Given the description of an element on the screen output the (x, y) to click on. 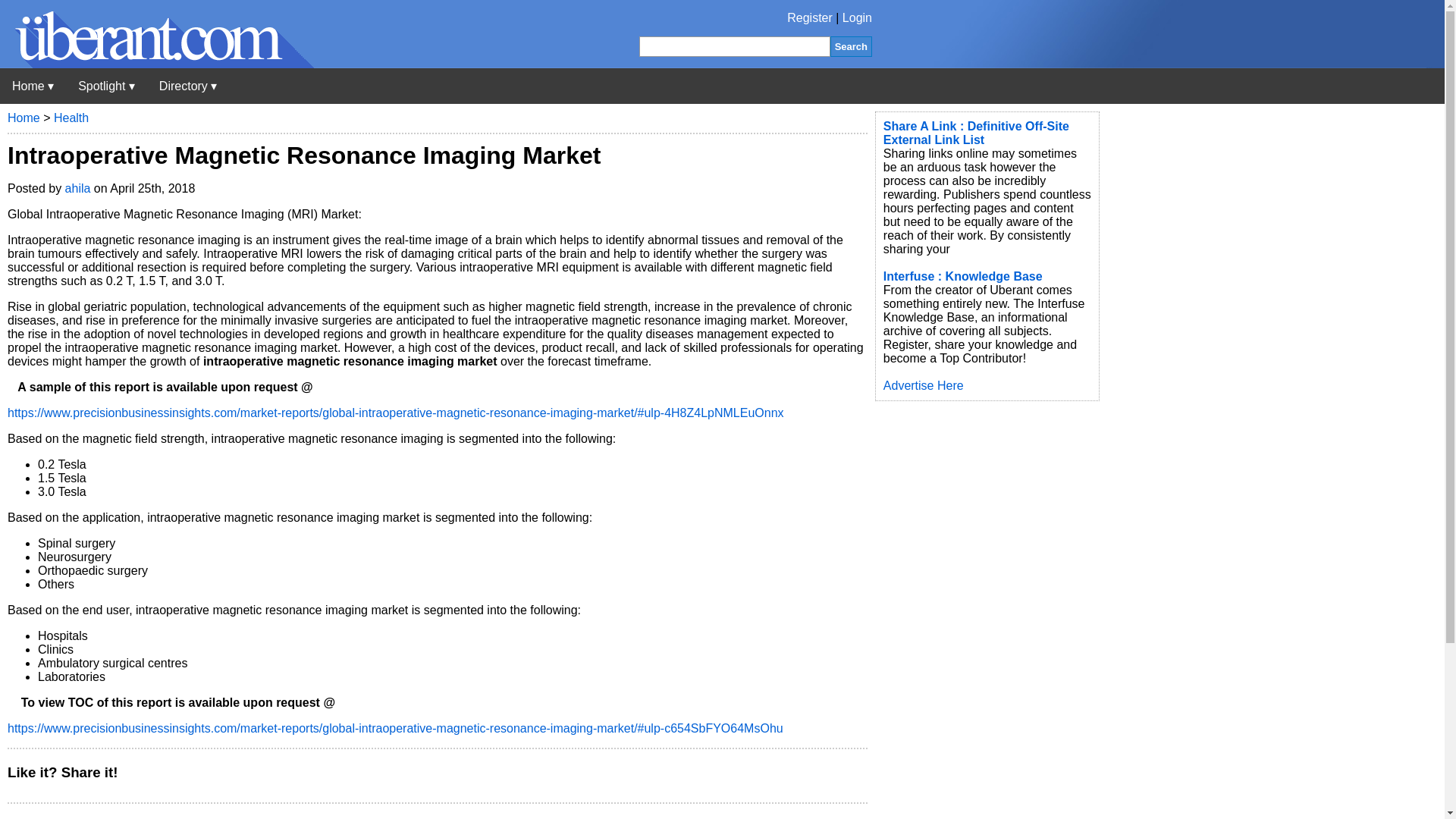
Register (809, 17)
Uberant (32, 85)
Search (850, 46)
Search (850, 46)
Login (857, 17)
Uberant (157, 63)
